Given the description of an element on the screen output the (x, y) to click on. 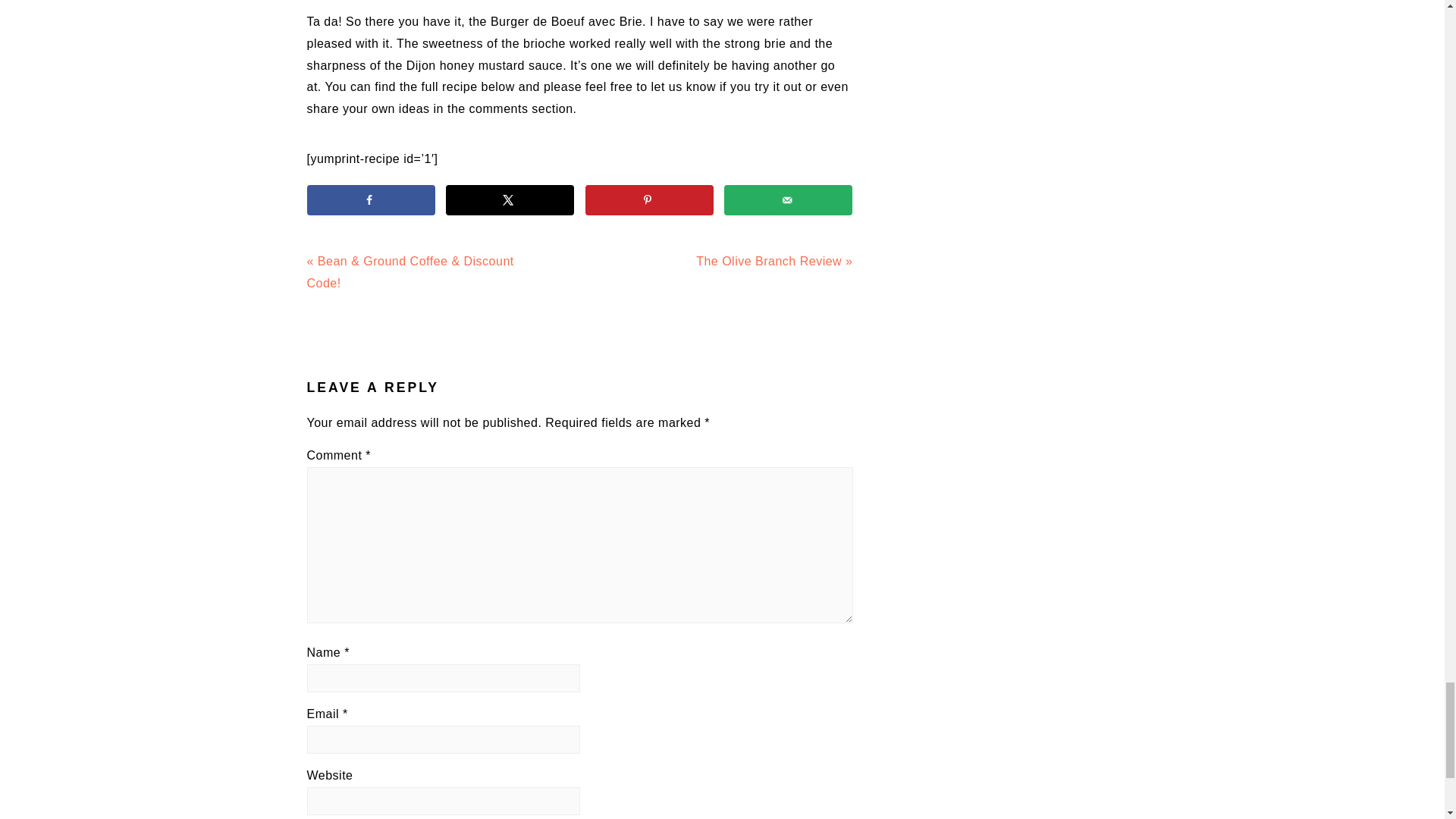
Share on X (509, 200)
Send over email (787, 200)
Save to Pinterest (649, 200)
Share on Facebook (369, 200)
